Given the description of an element on the screen output the (x, y) to click on. 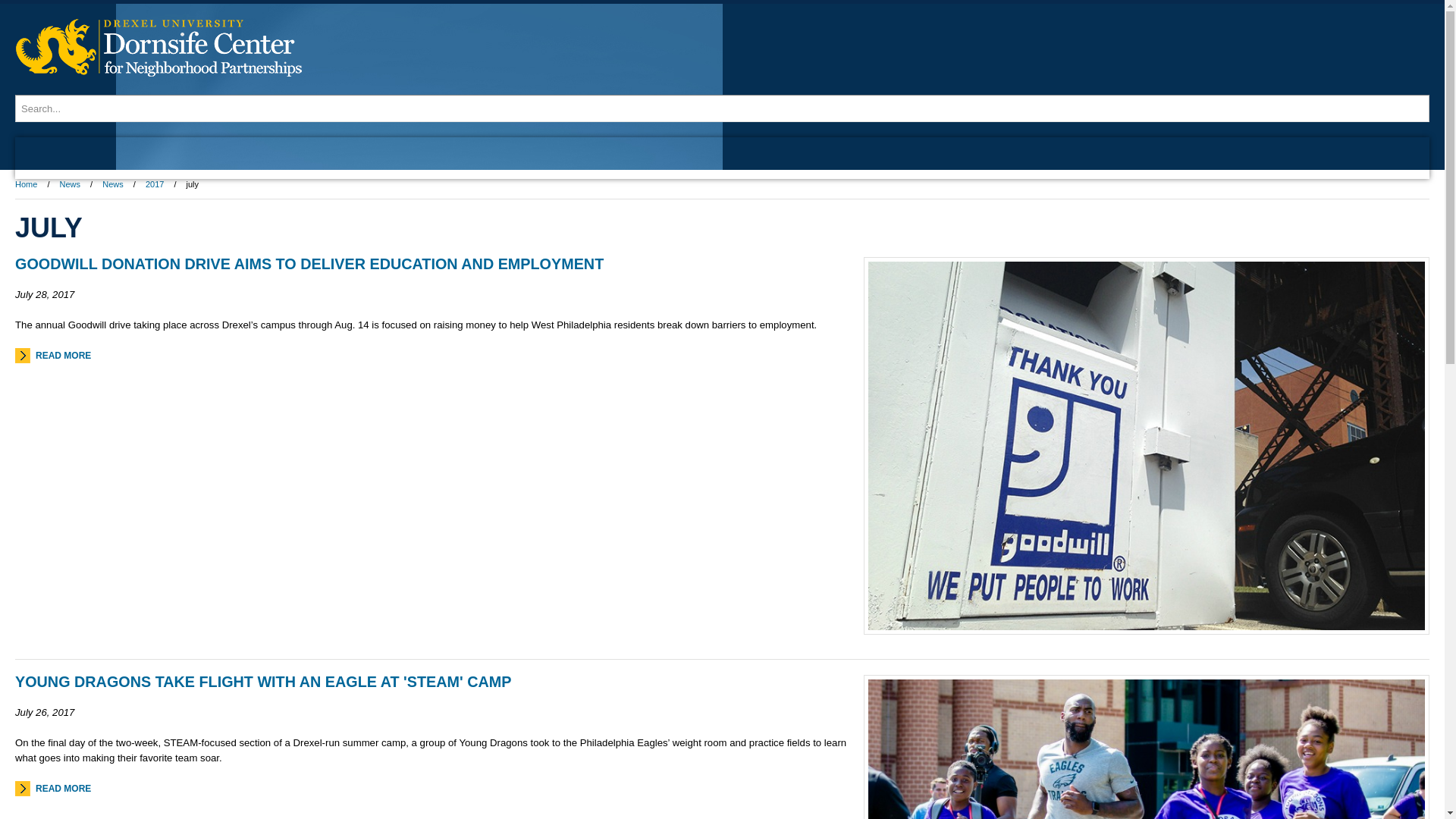
News (70, 184)
News (112, 184)
Home (30, 184)
2017 (154, 184)
